Given the description of an element on the screen output the (x, y) to click on. 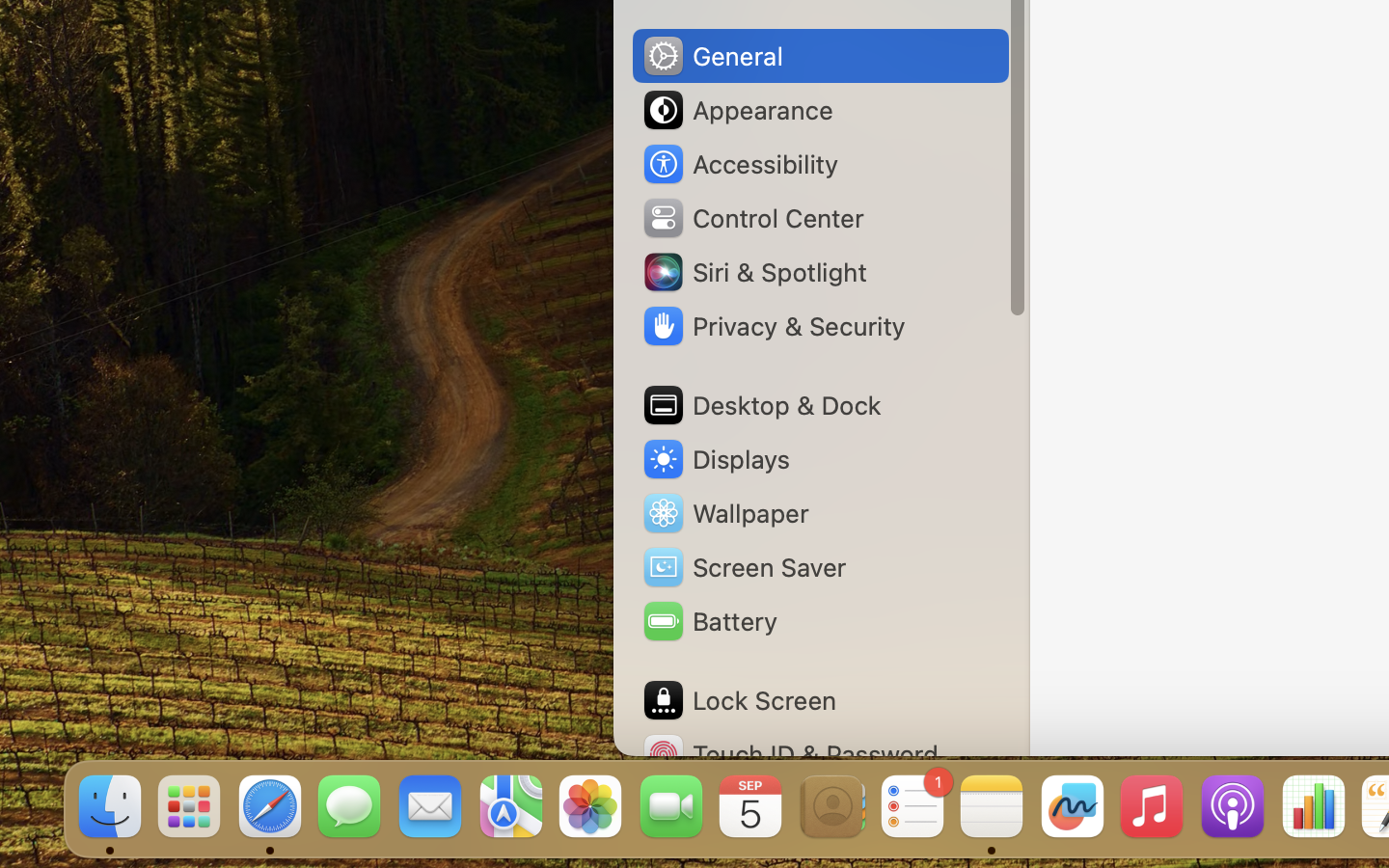
Control Center Element type: AXStaticText (752, 217)
Privacy & Security Element type: AXStaticText (772, 325)
Lock Screen Element type: AXStaticText (738, 700)
Battery Element type: AXStaticText (708, 620)
Accessibility Element type: AXStaticText (739, 163)
